Given the description of an element on the screen output the (x, y) to click on. 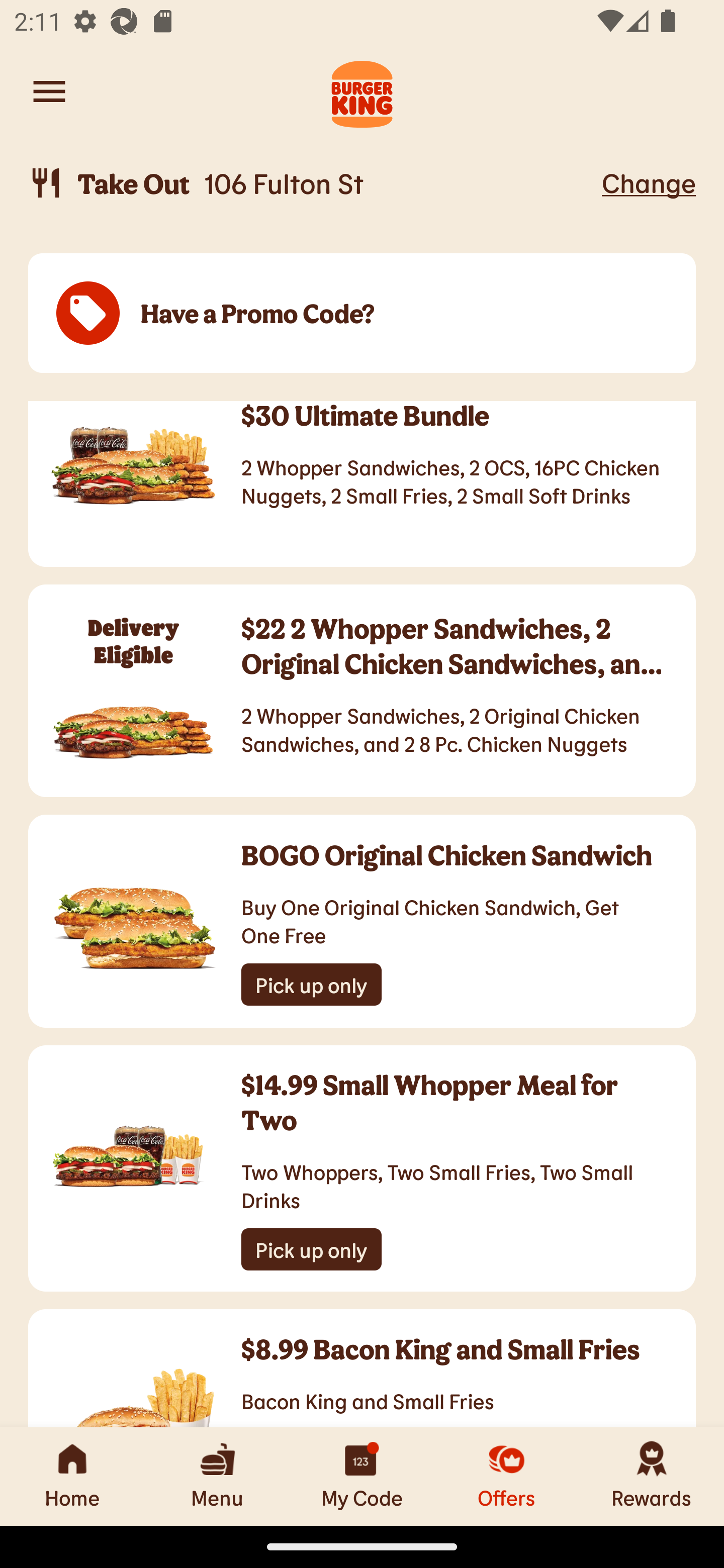
Burger King Logo. Navigate to Home (362, 91)
Navigate to account menu  (49, 91)
Take Out, 106 Fulton St  Take Out 106 Fulton St (311, 183)
Change (648, 182)
Have a Promo Code?  Have a Promo Code? (361, 313)
Home (72, 1475)
Menu (216, 1475)
My Code (361, 1475)
Offers (506, 1475)
Rewards (651, 1475)
